Given the description of an element on the screen output the (x, y) to click on. 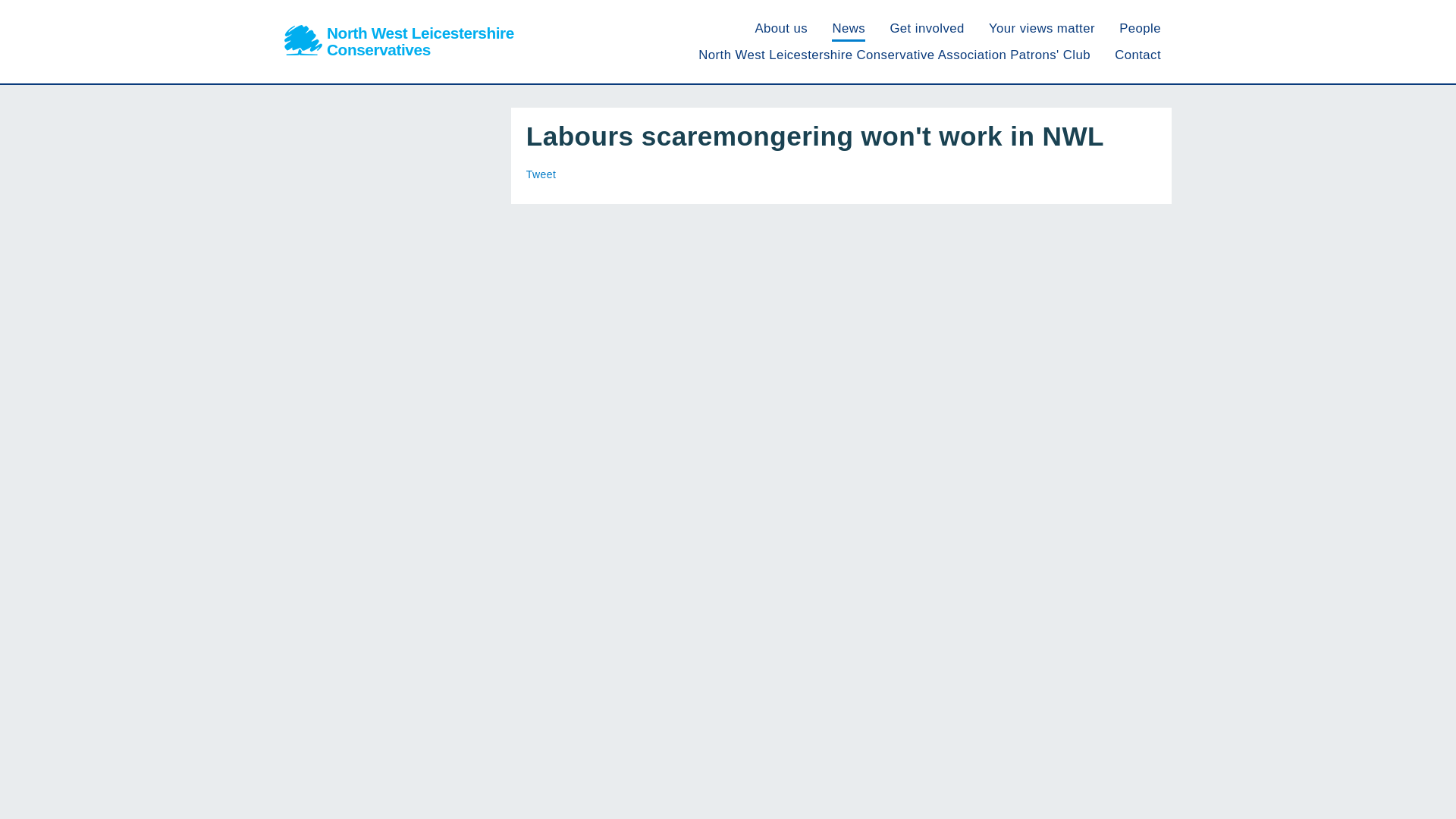
Let us know your views (398, 41)
About us (1041, 28)
Contact (781, 28)
Your views matter (1137, 54)
People (1041, 28)
Get involved (1139, 28)
News (926, 28)
Tweet (847, 28)
Skip to main content (540, 174)
